Given the description of an element on the screen output the (x, y) to click on. 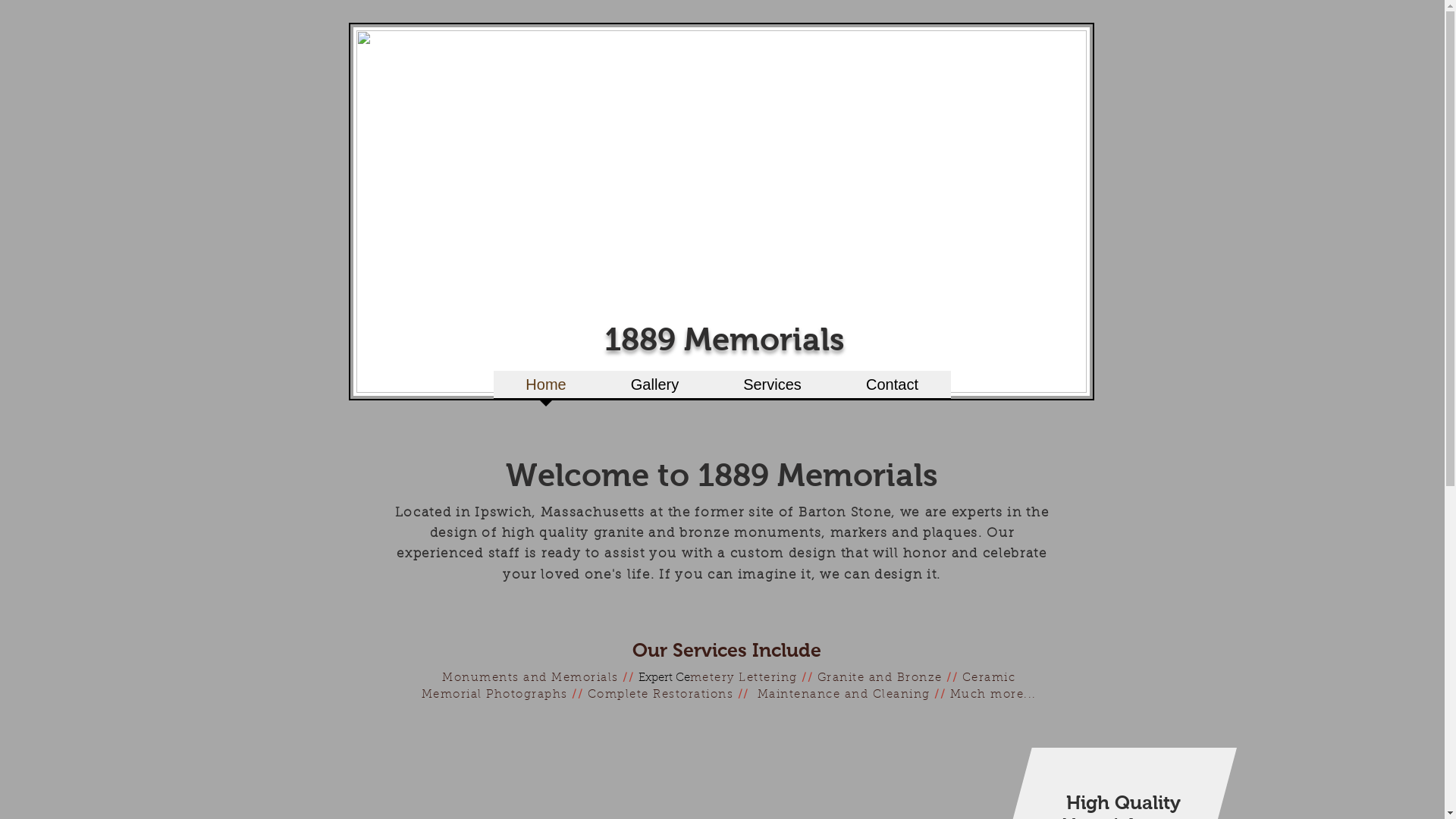
Gallery Element type: text (655, 388)
Home Element type: text (545, 388)
Highland2.jpg Element type: hover (721, 211)
Services Element type: text (772, 388)
Contact Element type: text (892, 388)
